Given the description of an element on the screen output the (x, y) to click on. 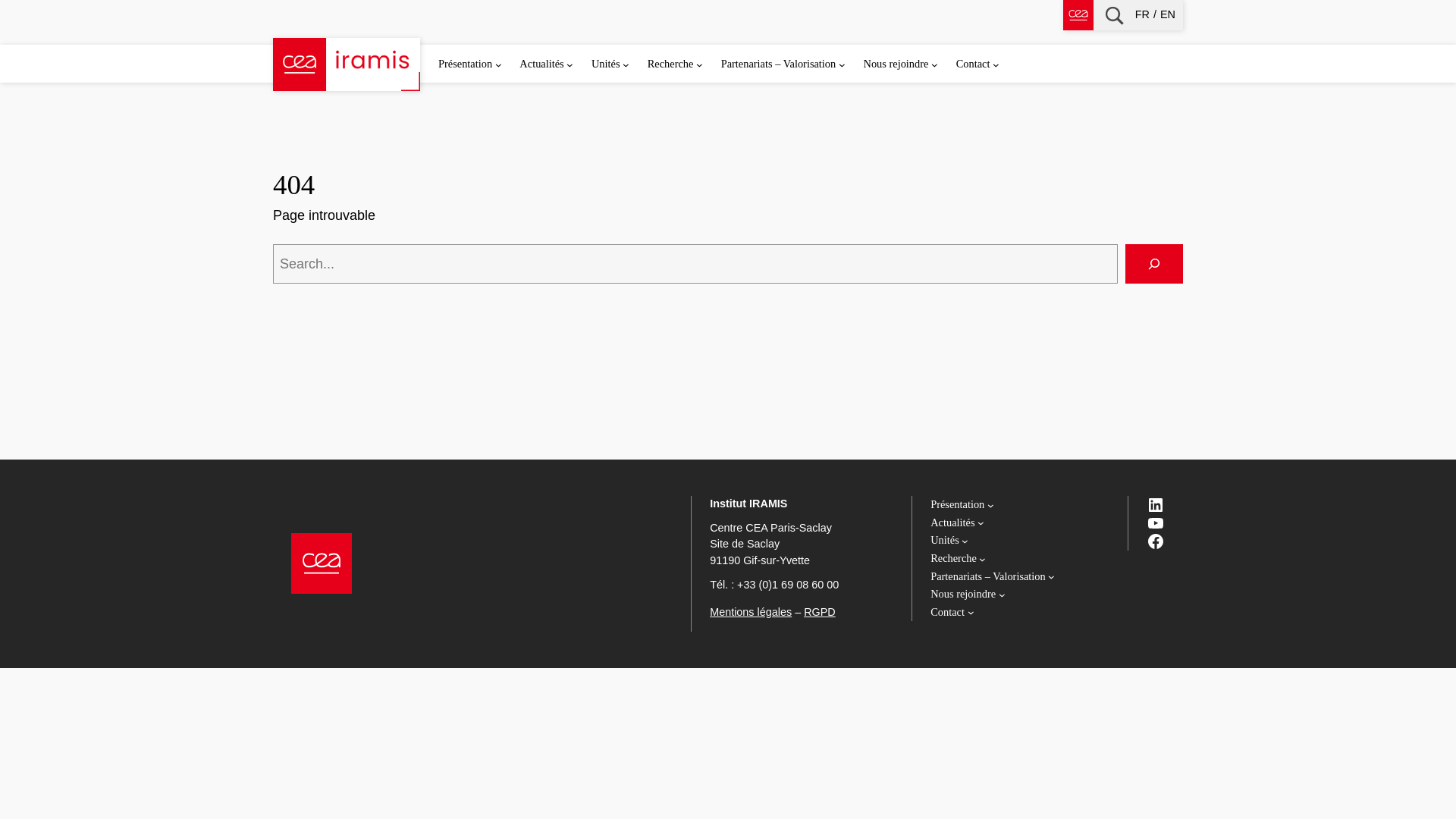
Recherche (1113, 14)
Recherche (670, 64)
FR (1144, 14)
EN (1167, 14)
